Given the description of an element on the screen output the (x, y) to click on. 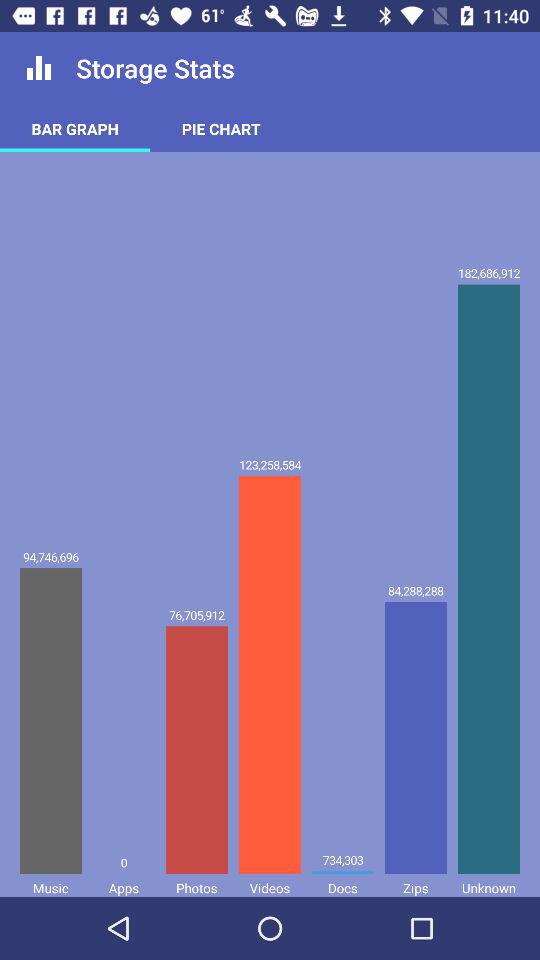
choose icon below the    storage stats item (221, 128)
